Given the description of an element on the screen output the (x, y) to click on. 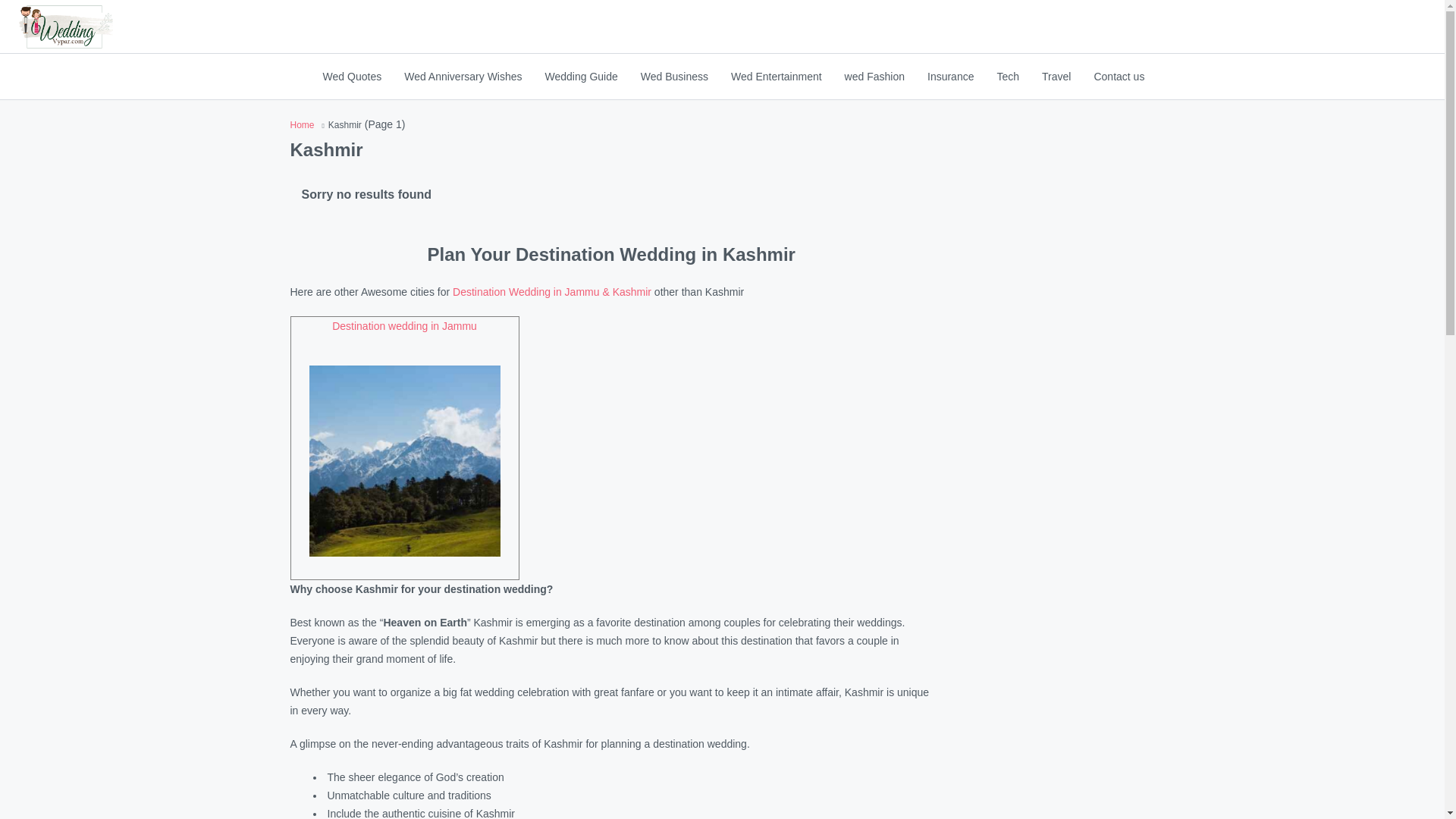
Wedding Guide (581, 76)
Wed Quotes (352, 76)
Wed Anniversary Wishes (462, 76)
 -  (65, 26)
